Given the description of an element on the screen output the (x, y) to click on. 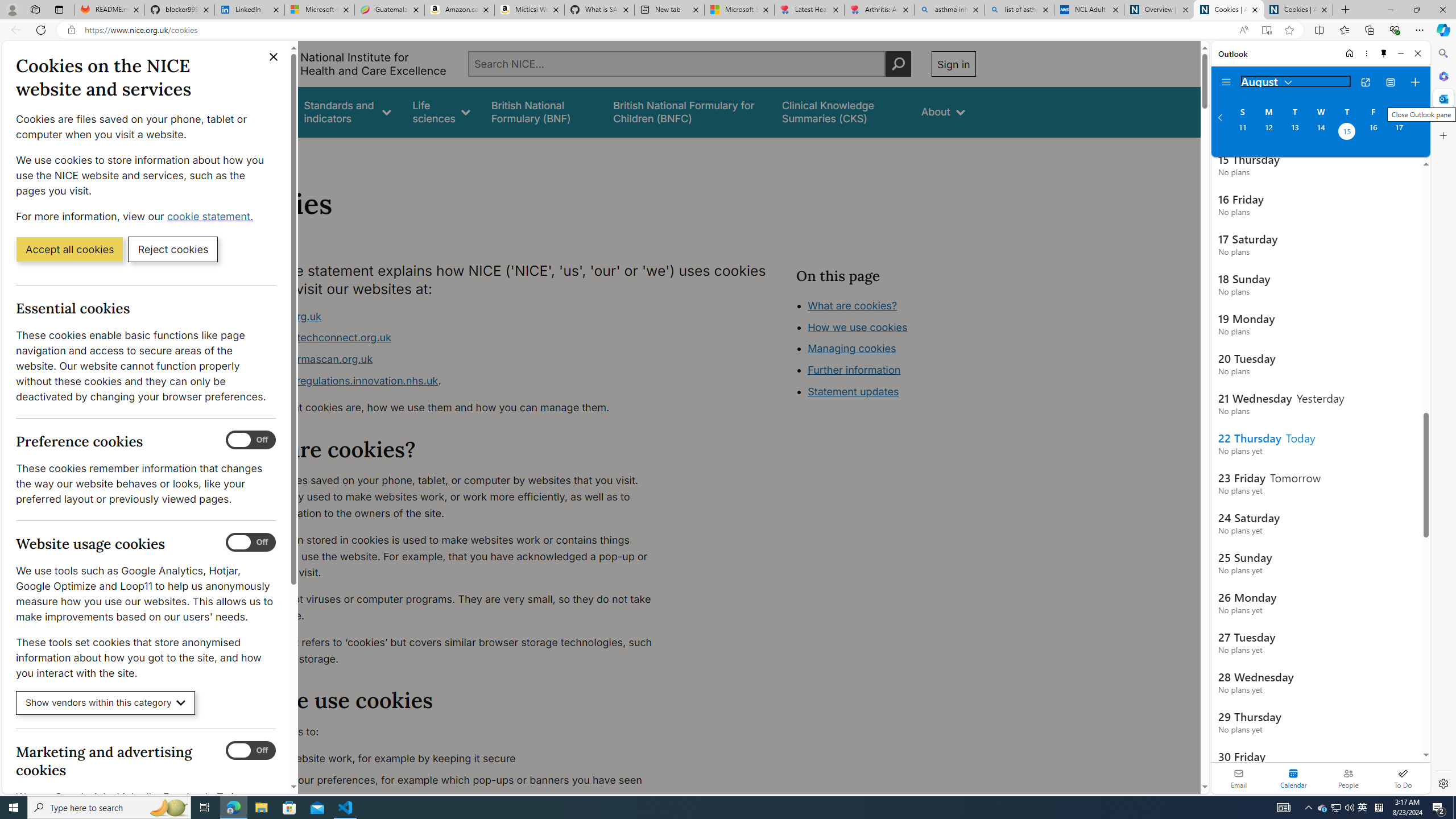
list of asthma inhalers uk - Search (1018, 9)
What are cookies? (852, 305)
Open in new tab (1365, 82)
Sunday, August 11, 2024.  (1242, 132)
About (283, 152)
